Given the description of an element on the screen output the (x, y) to click on. 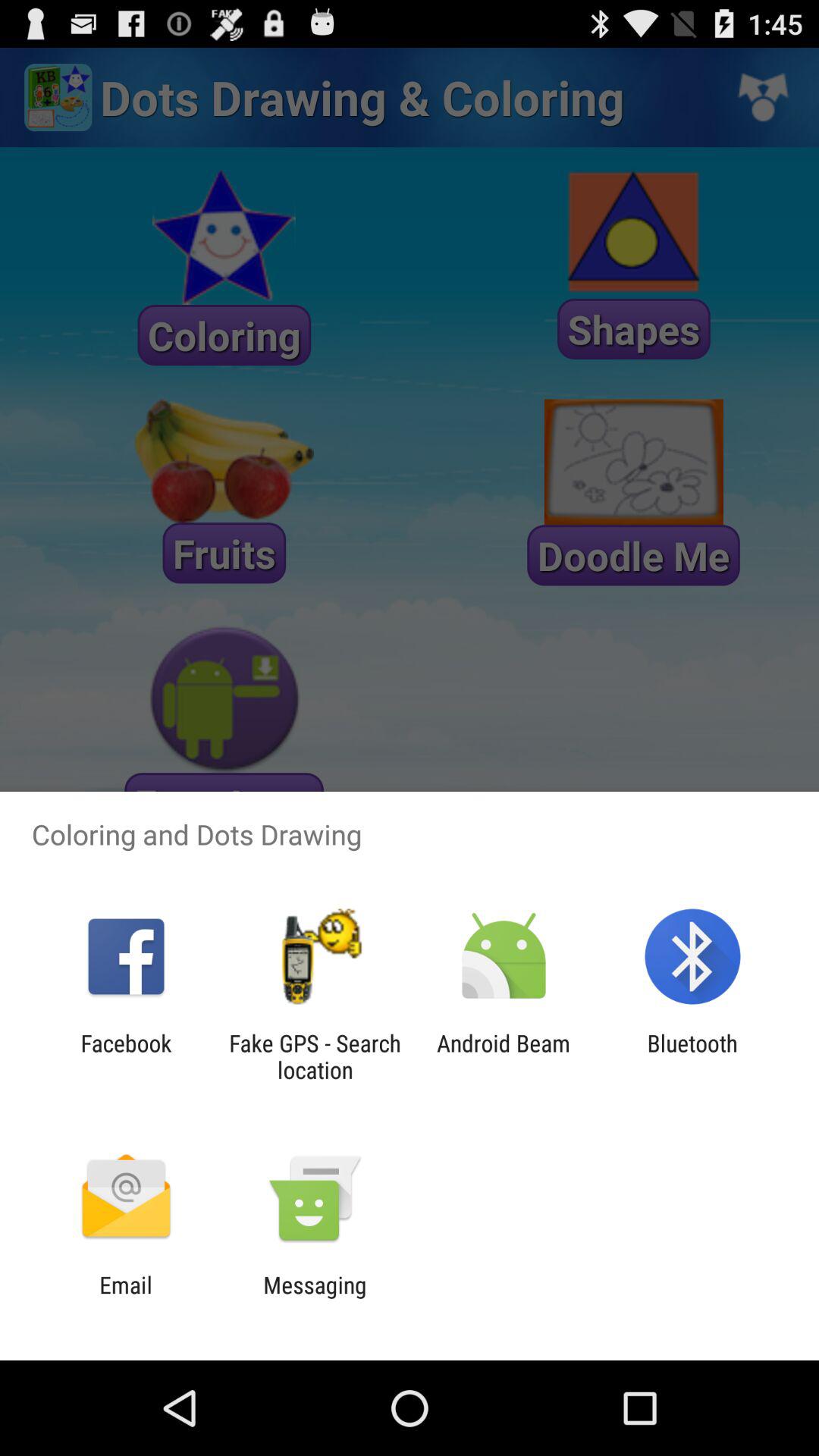
swipe until the messaging (314, 1298)
